Given the description of an element on the screen output the (x, y) to click on. 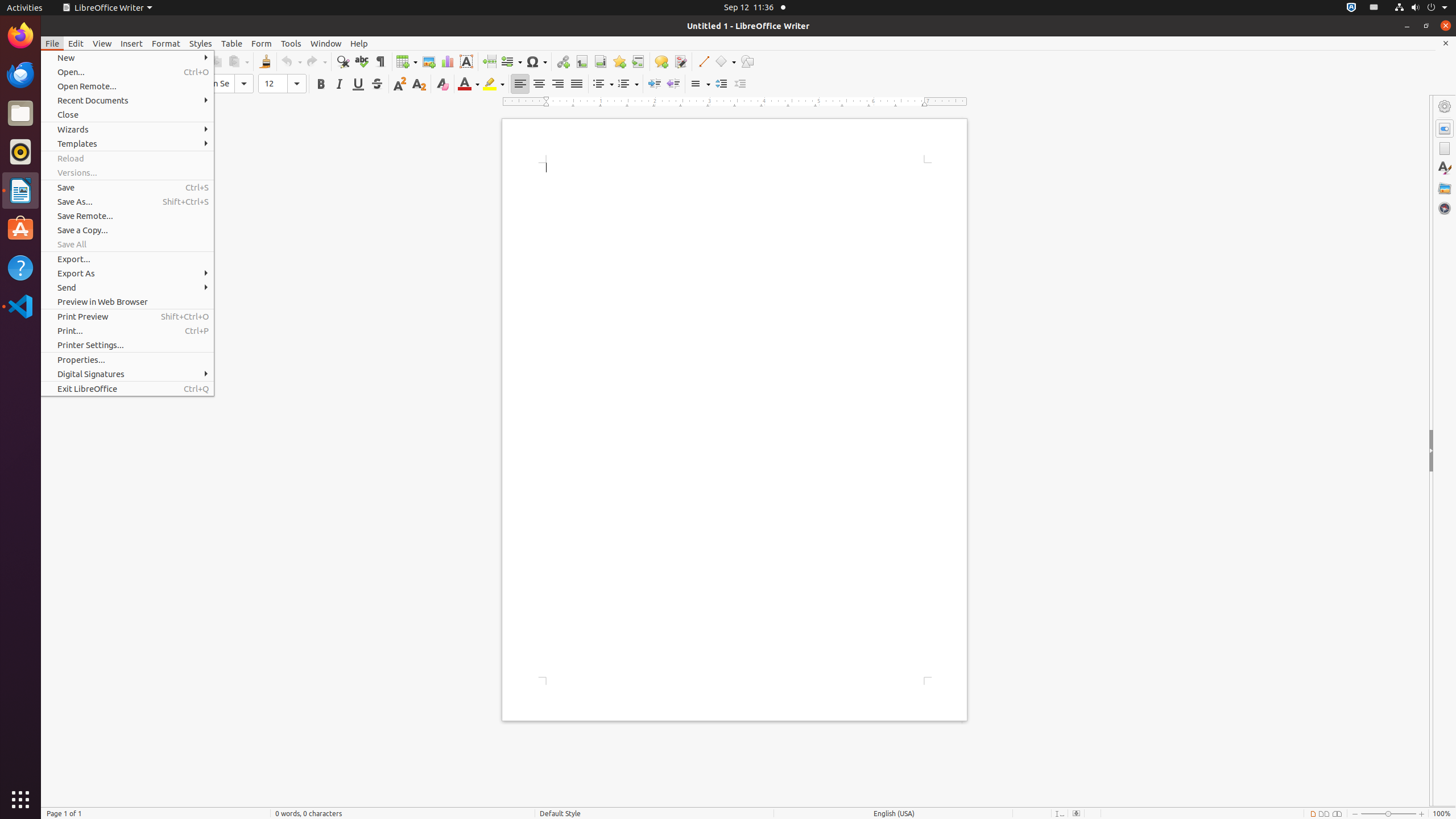
Track Changes Functions Element type: toggle-button (679, 61)
Line Spacing Element type: push-button (699, 83)
Templates Element type: menu (126, 143)
Increase Element type: push-button (721, 83)
Tools Element type: menu (290, 43)
